Given the description of an element on the screen output the (x, y) to click on. 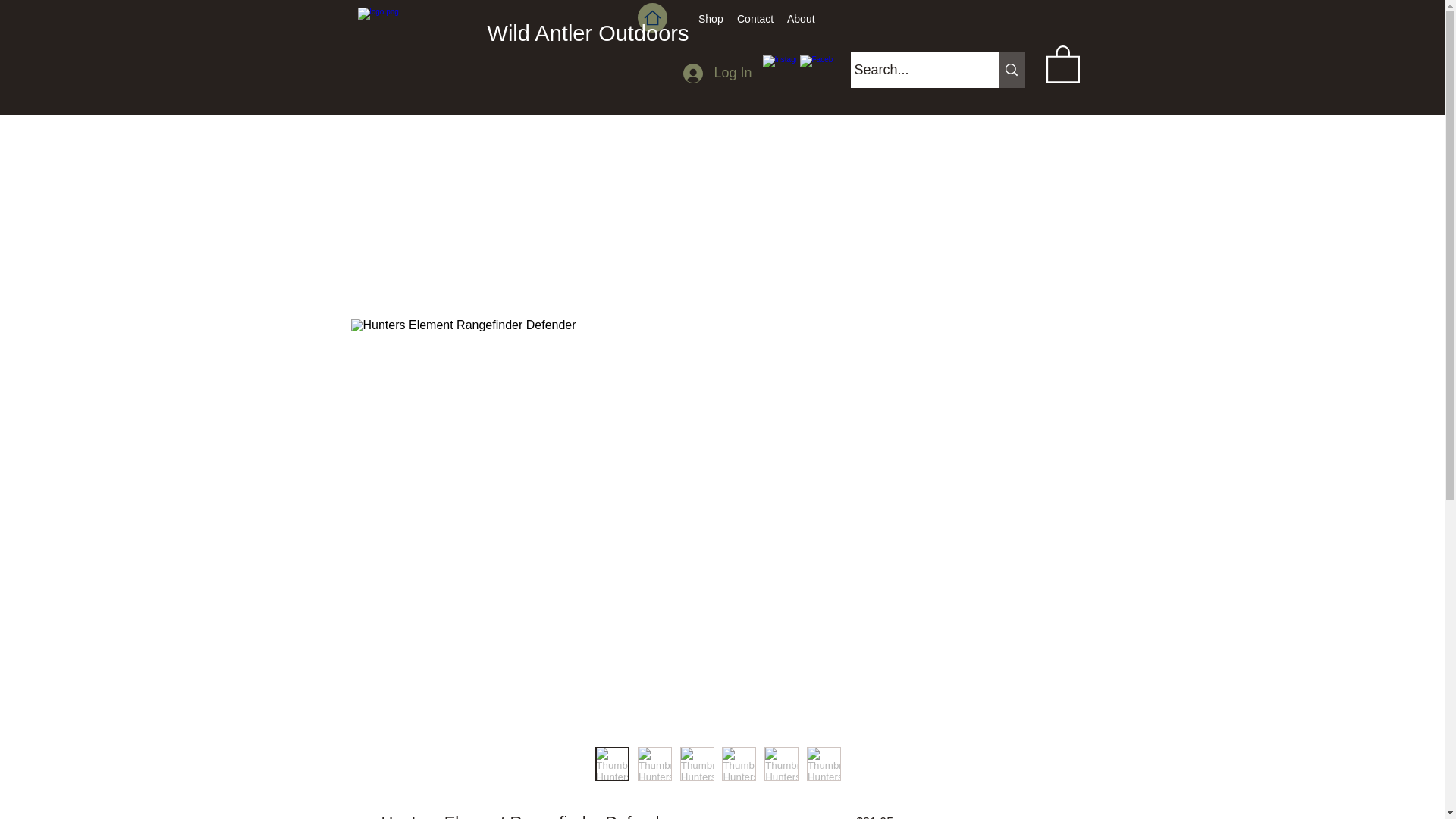
About (799, 18)
Shop (709, 18)
Log In (716, 73)
Contact (753, 18)
Wild Antler Outdoors (587, 33)
